Given the description of an element on the screen output the (x, y) to click on. 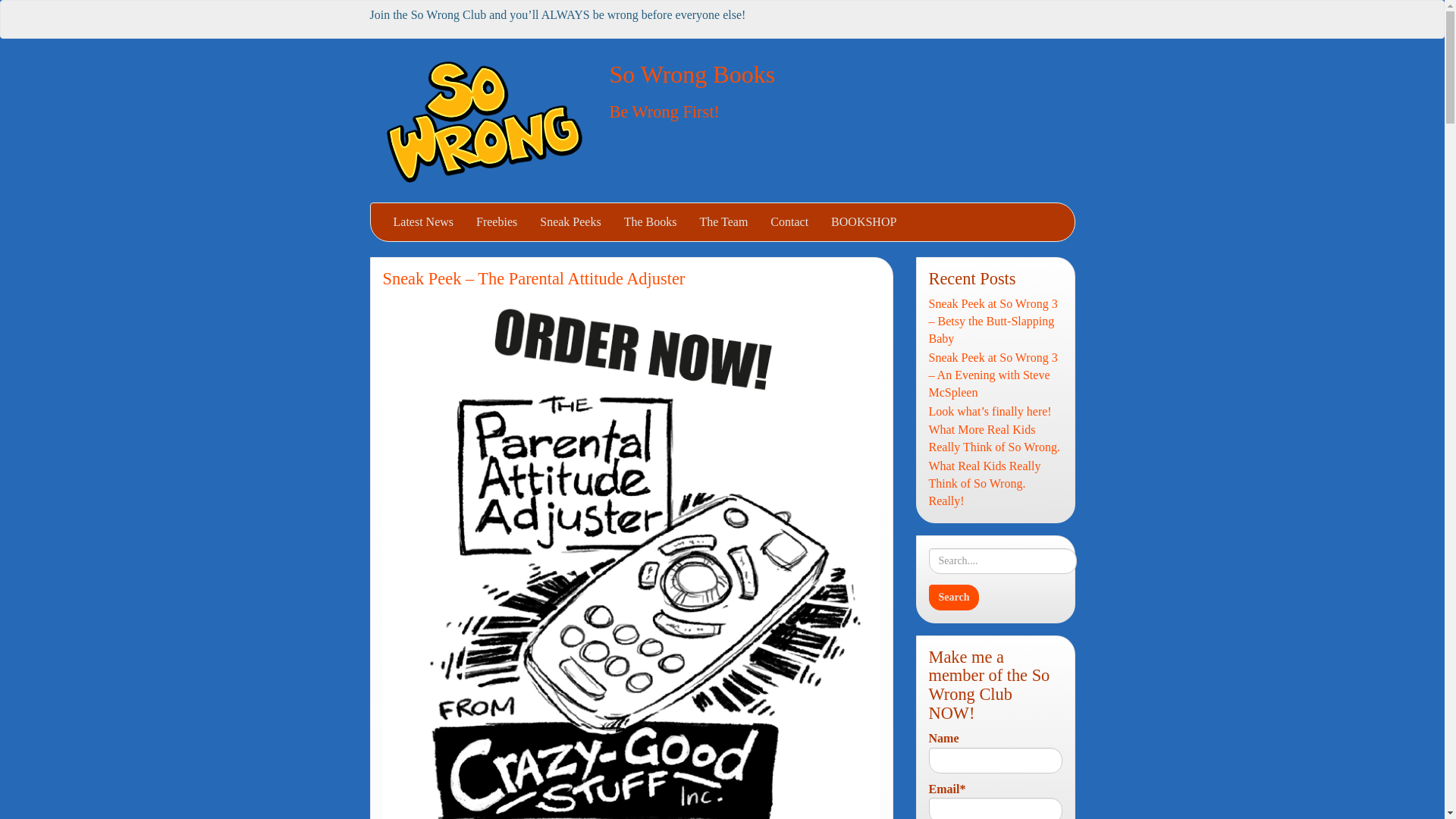
Sneak Peeks (569, 221)
BOOKSHOP (863, 221)
Freebies (496, 221)
What More Real Kids Really Think of So Wrong. (994, 438)
The Team (722, 221)
Be Wrong First! (664, 111)
The Books (650, 221)
Search (953, 597)
So Wrong Books (693, 73)
BOOKSHOP (863, 221)
